Given the description of an element on the screen output the (x, y) to click on. 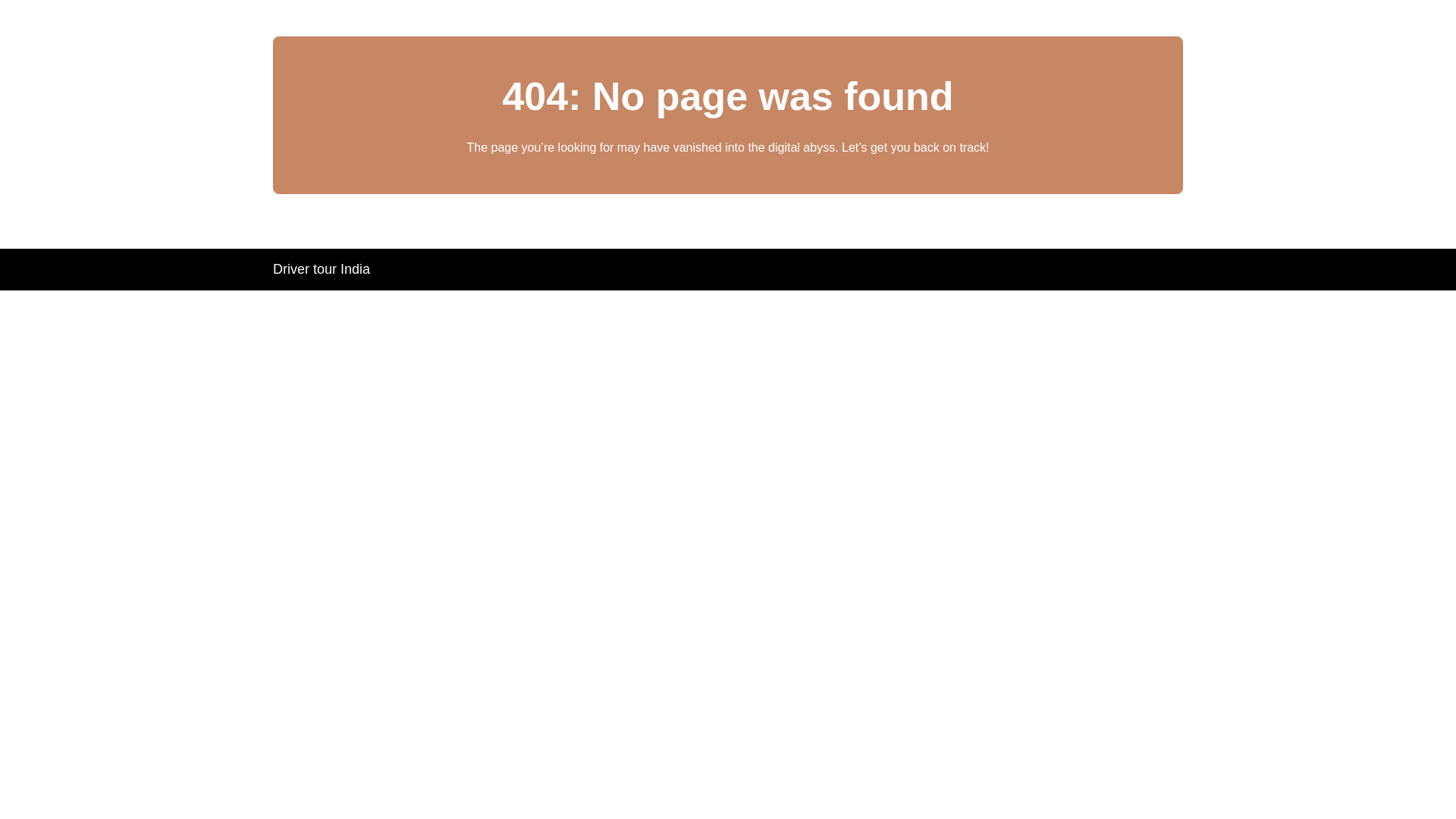
Driver tour India (321, 268)
